Given the description of an element on the screen output the (x, y) to click on. 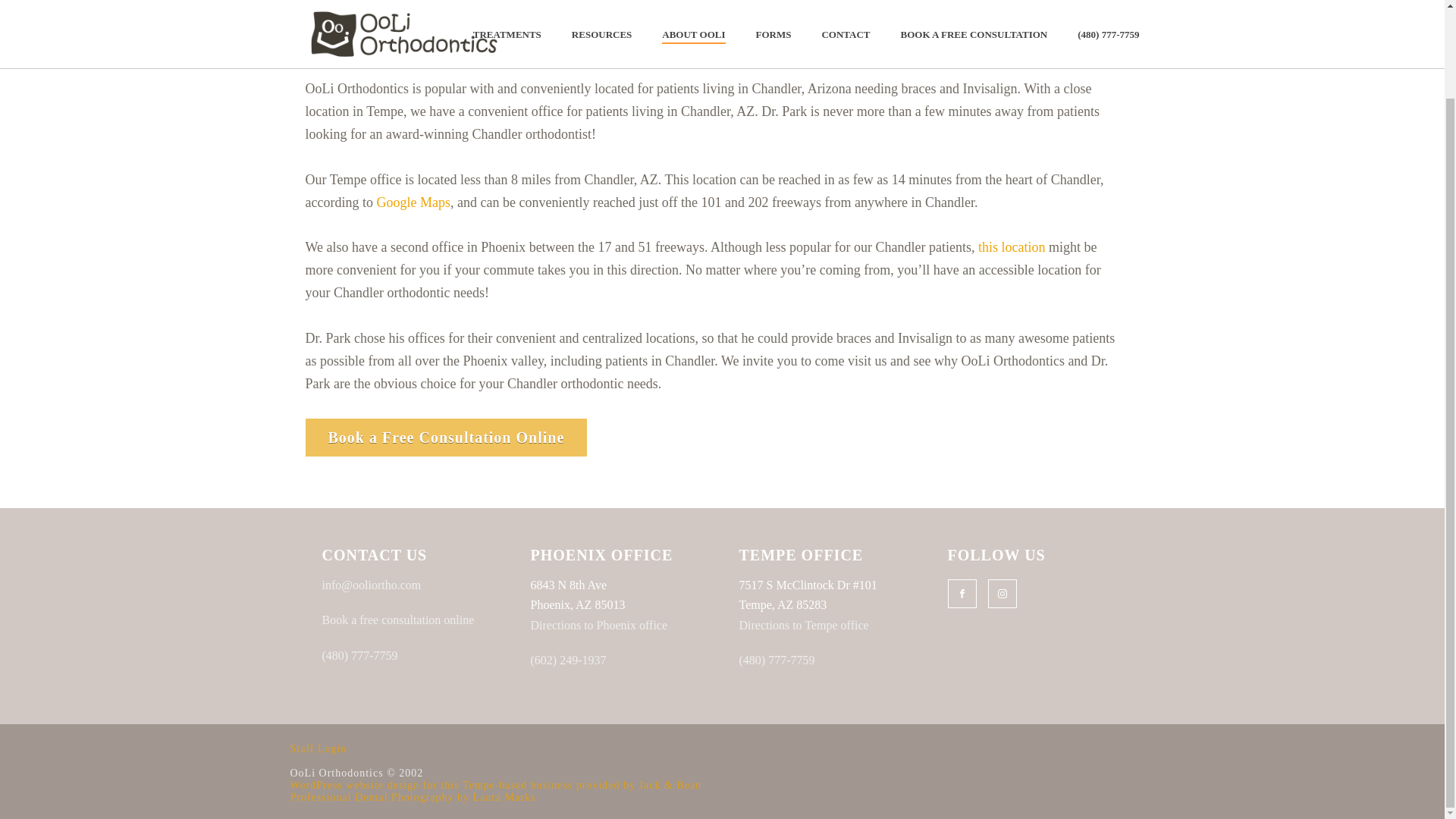
Book a Free Consultation Online (445, 437)
Call via Hangouts (569, 659)
Follow Us facebook (961, 593)
Follow Us instagram (1001, 593)
